Given the description of an element on the screen output the (x, y) to click on. 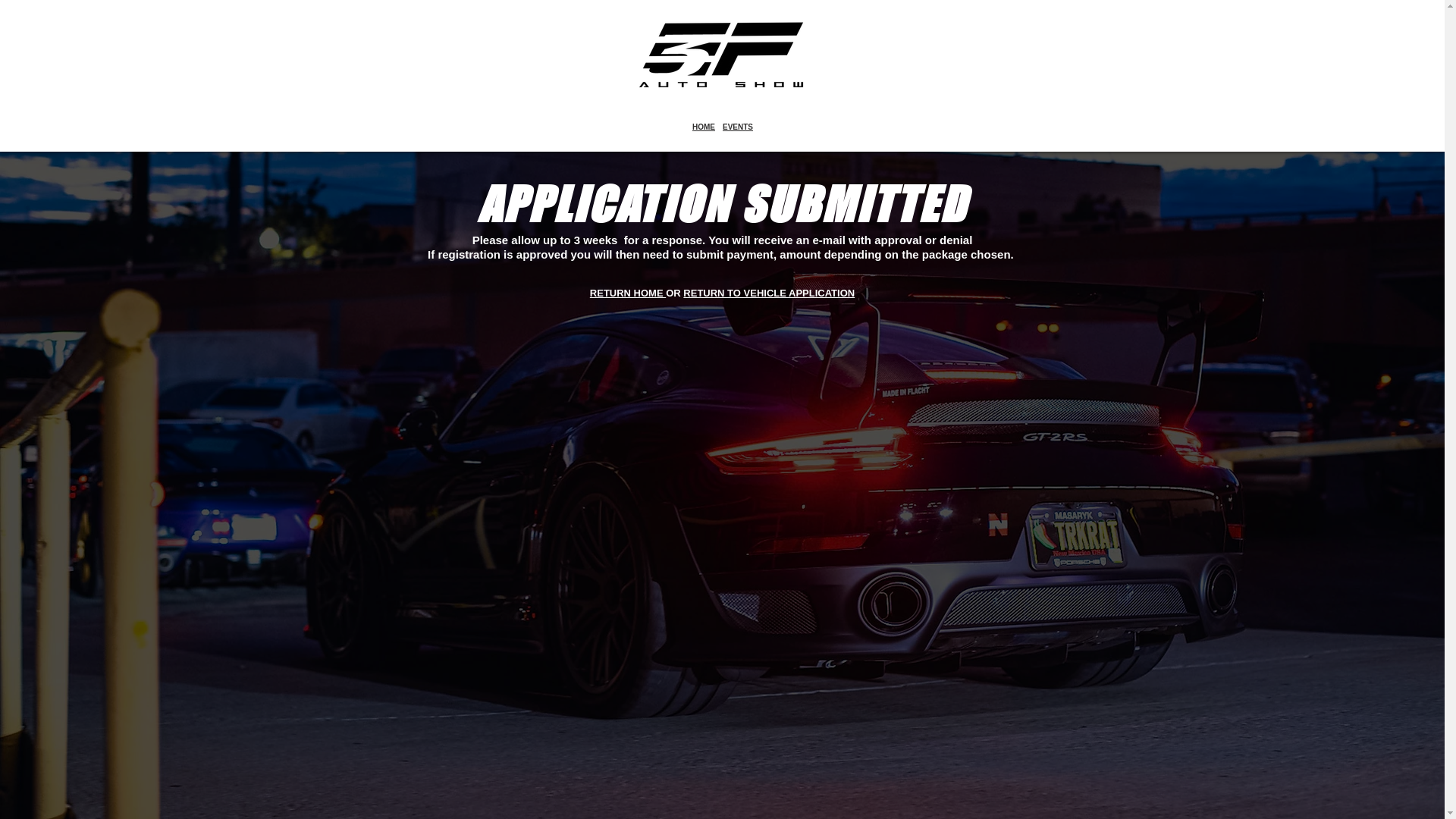
RETURN TO VEHICLE APPLICATION Element type: text (768, 292)
RETURN HOME  Element type: text (627, 292)
HOME Element type: text (703, 126)
EVENTS Element type: text (737, 126)
